Given the description of an element on the screen output the (x, y) to click on. 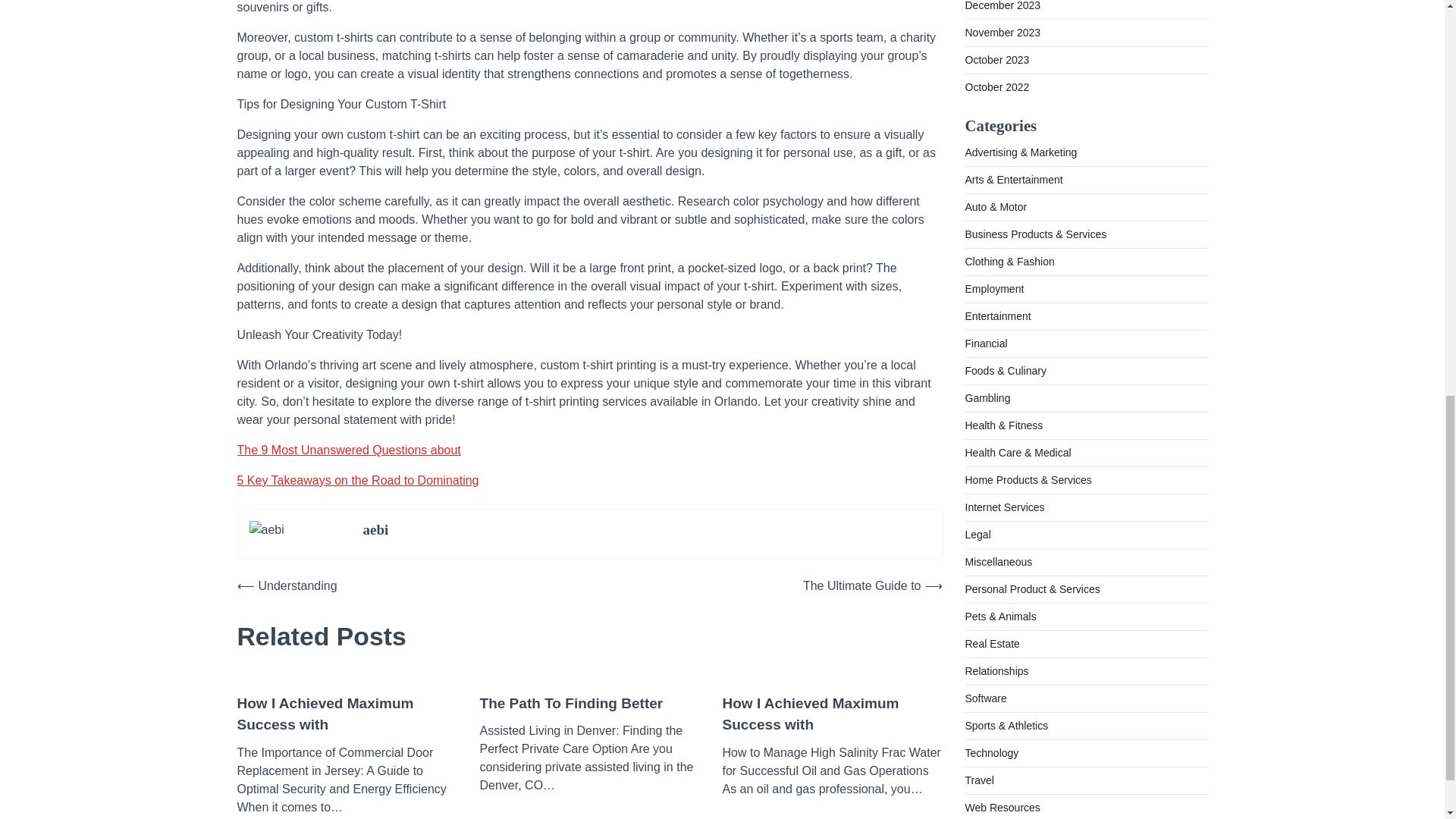
How I Achieved Maximum Success with (832, 714)
How I Achieved Maximum Success with (346, 714)
Employment (993, 155)
5 Key Takeaways on the Road to Dominating (357, 480)
The 9 Most Unanswered Questions about (347, 449)
Entertainment (996, 183)
The Path To Finding Better (570, 703)
